Given the description of an element on the screen output the (x, y) to click on. 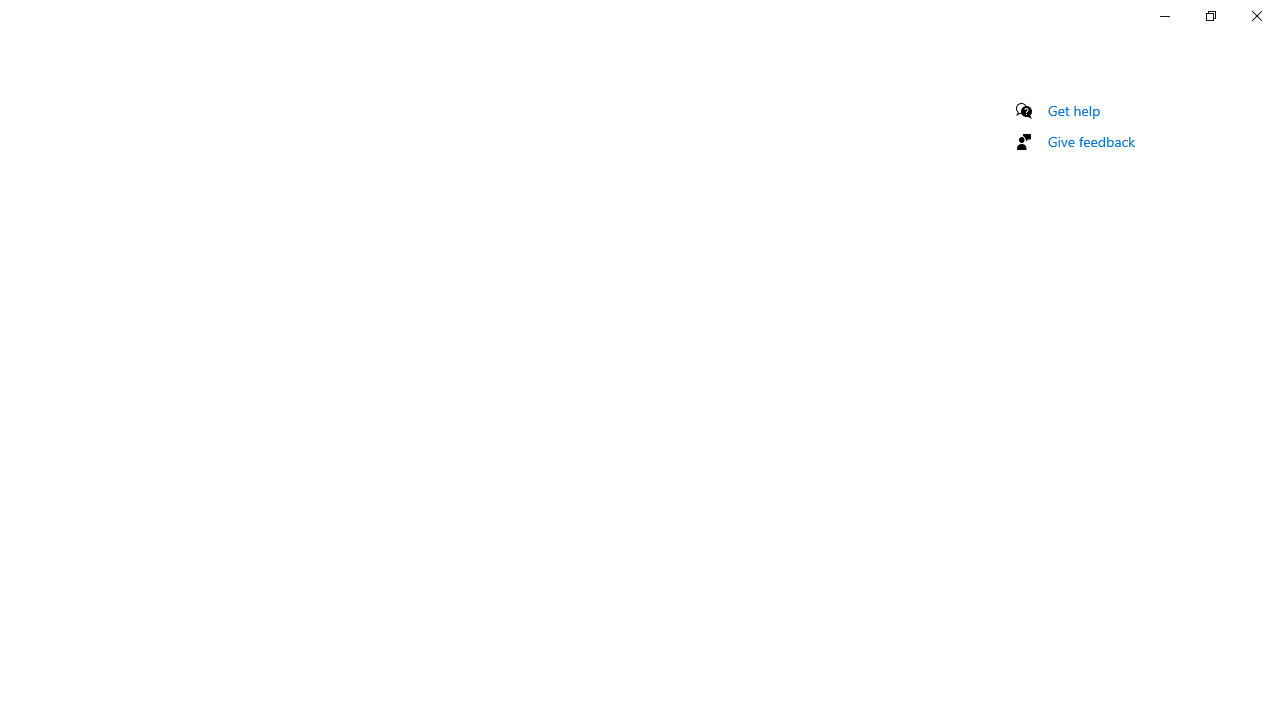
Restore Settings (1210, 15)
Minimize Settings (1164, 15)
Close Settings (1256, 15)
Get help (1074, 110)
Give feedback (1091, 141)
